Given the description of an element on the screen output the (x, y) to click on. 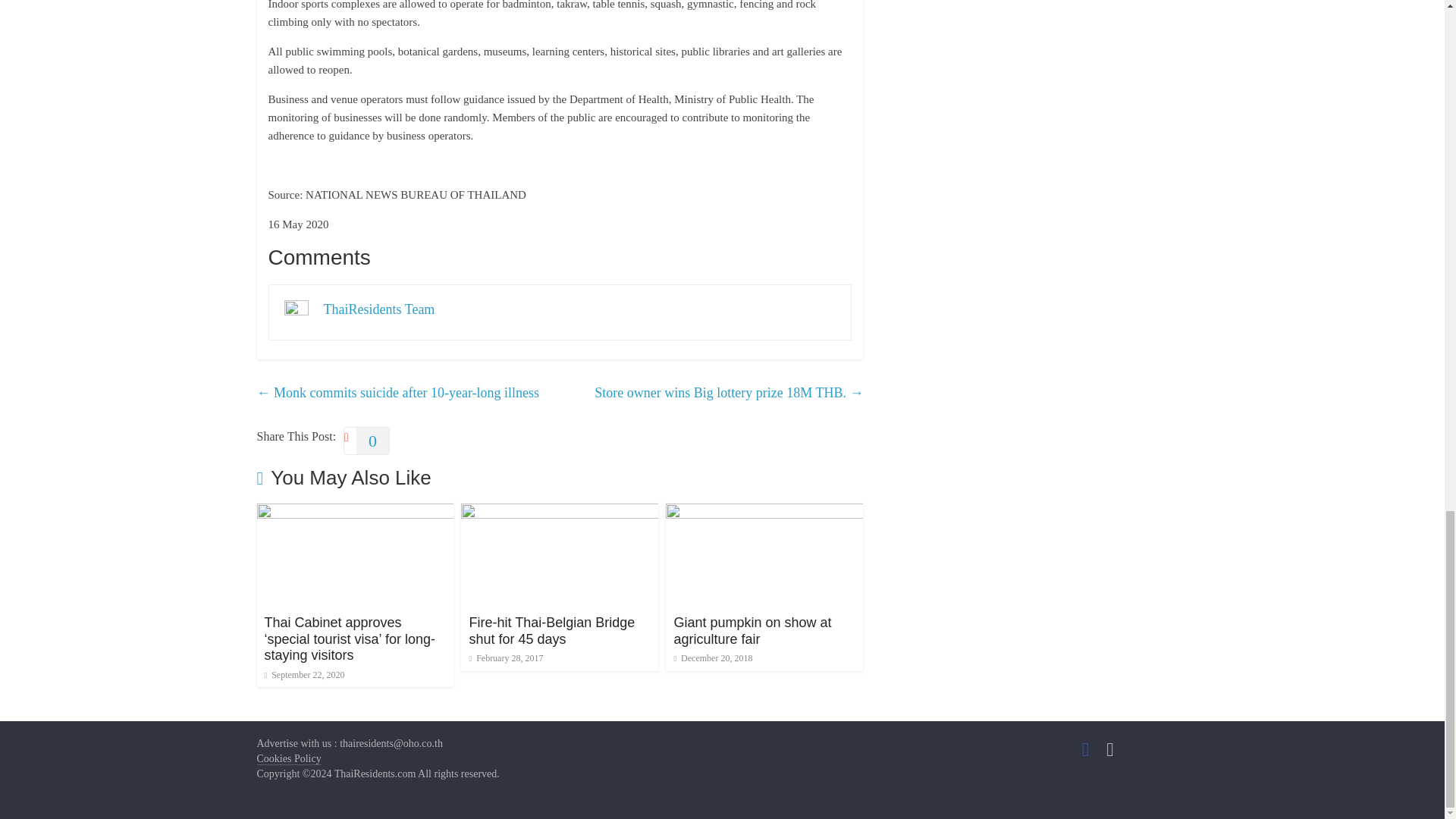
0 (366, 440)
11:32 am (303, 674)
Giant pumpkin on show at agriculture fair (751, 631)
Fire-hit Thai-Belgian Bridge shut for 45 days (551, 631)
September 22, 2020 (303, 674)
Fire-hit Thai-Belgian Bridge shut for 45 days (551, 631)
December 20, 2018 (712, 657)
Fire-hit Thai-Belgian Bridge shut for 45 days (559, 512)
February 28, 2017 (505, 657)
ThaiResidents Team (378, 309)
